Given the description of an element on the screen output the (x, y) to click on. 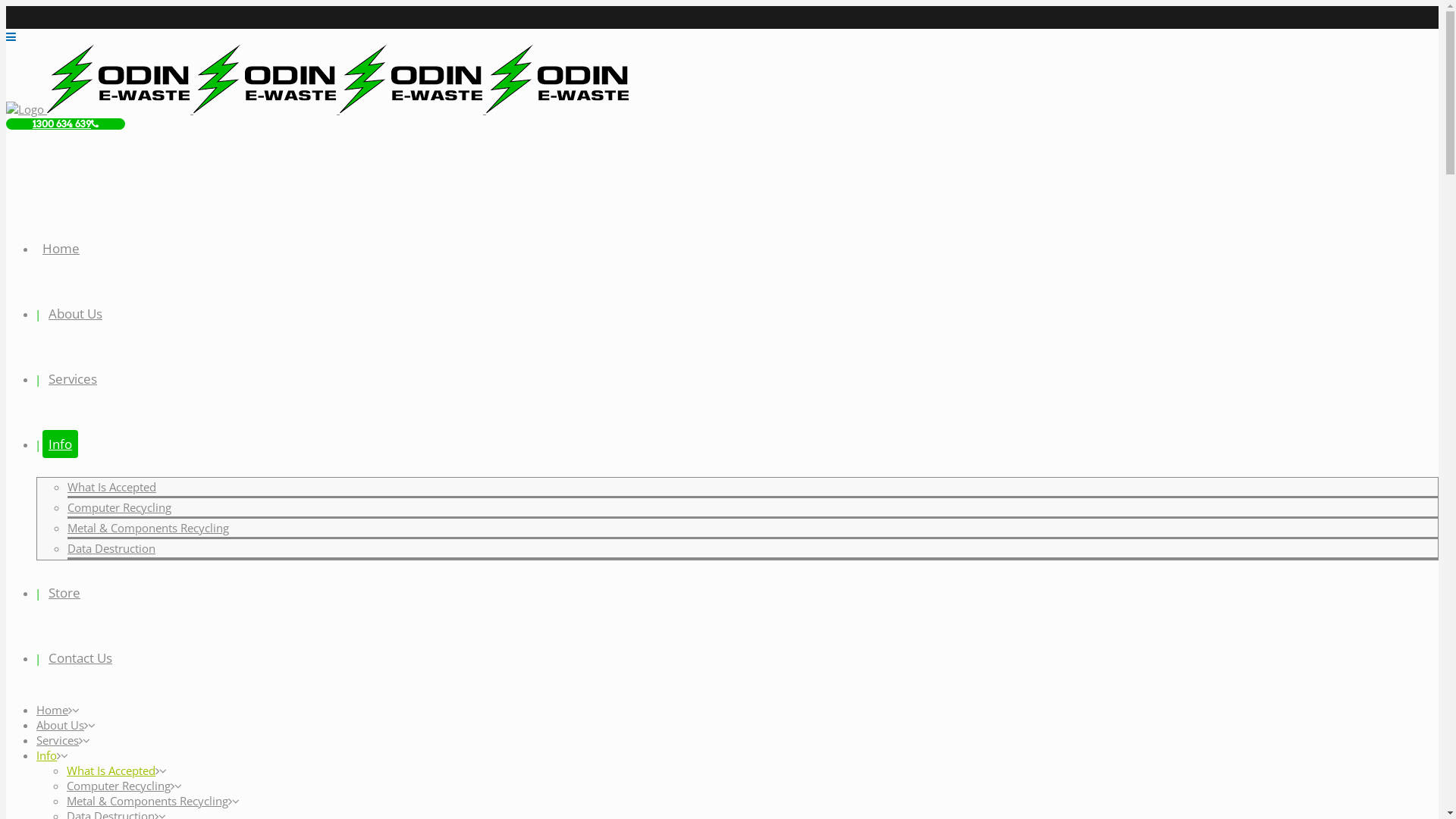
Store Element type: text (64, 592)
Services Element type: text (57, 739)
About Us Element type: text (60, 724)
Data Destruction Element type: text (111, 548)
Services Element type: text (72, 378)
Home Element type: text (52, 709)
What Is Accepted Element type: text (111, 486)
Info Element type: text (60, 443)
Contact Us Element type: text (80, 657)
Home Element type: text (60, 248)
Metal & Components Recycling Element type: text (148, 527)
Computer Recycling Element type: text (118, 785)
1300 634 639 Element type: text (65, 123)
What Is Accepted Element type: text (110, 770)
Metal & Components Recycling Element type: text (147, 800)
Info Element type: text (46, 754)
Computer Recycling Element type: text (119, 507)
About Us Element type: text (75, 313)
